Given the description of an element on the screen output the (x, y) to click on. 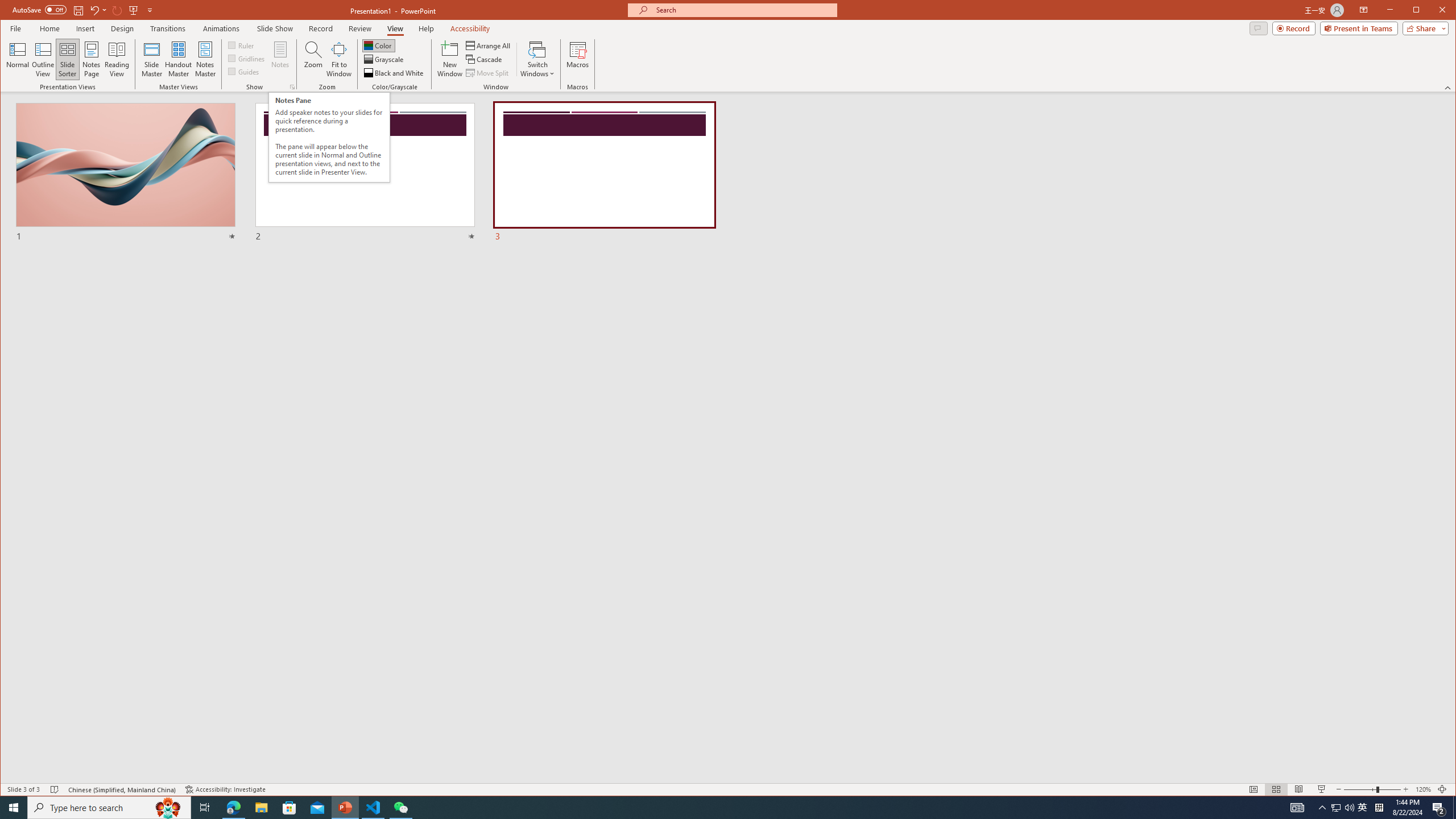
Action Center, 2 new notifications (1439, 807)
Guides (243, 70)
Tray Input Indicator - Chinese (Simplified, China) (1378, 807)
Start (1362, 807)
Notes Page (13, 807)
Maximize (91, 59)
